Given the description of an element on the screen output the (x, y) to click on. 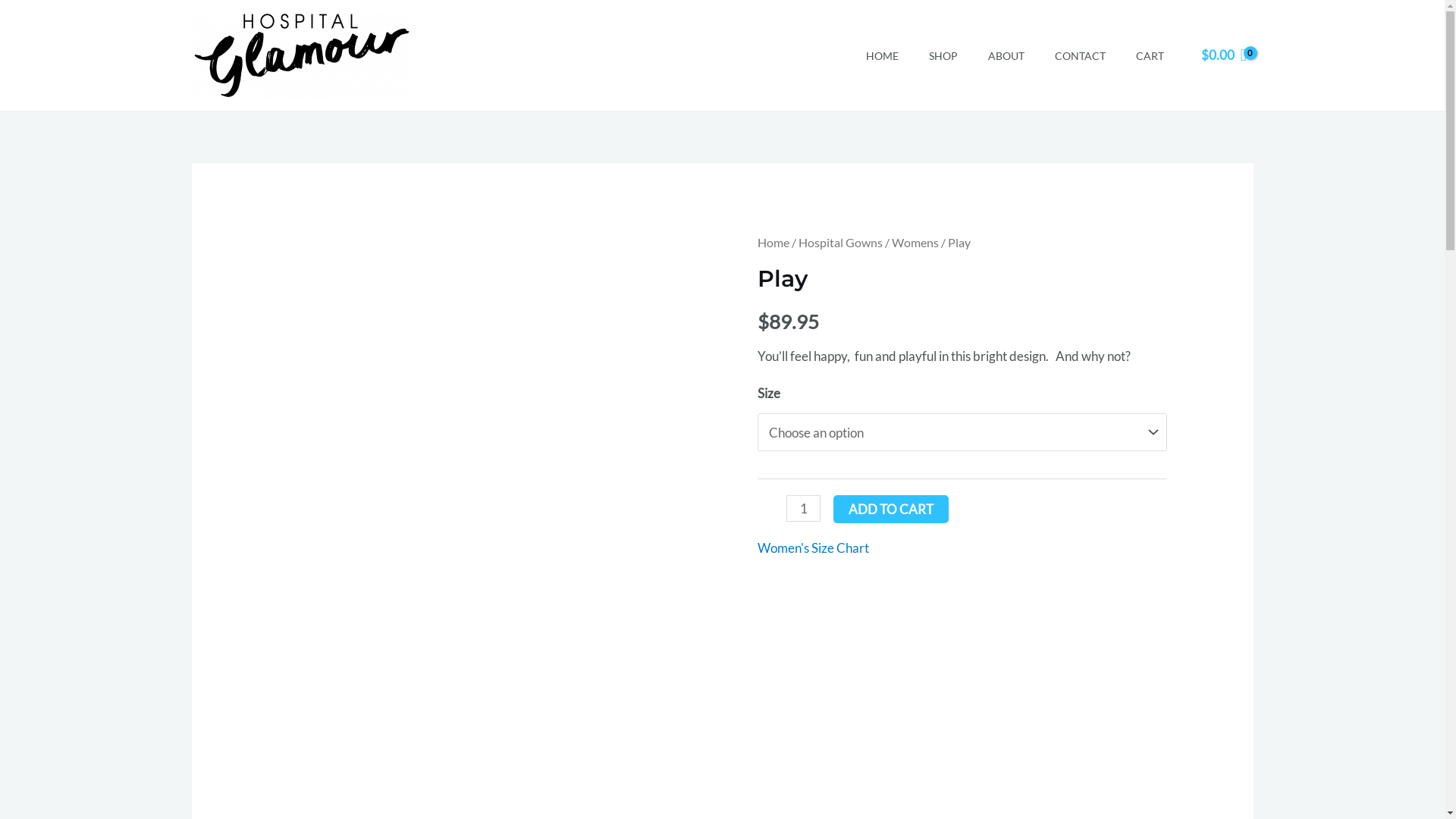
Hospital Gowns Element type: text (840, 242)
HOME Element type: text (881, 54)
ADD TO CART Element type: text (890, 509)
CART Element type: text (1149, 54)
Women's Size Chart Element type: text (813, 548)
Home Element type: text (773, 242)
SHOP Element type: text (942, 54)
ABOUT Element type: text (1005, 54)
Womens Element type: text (914, 242)
$0.00 Element type: text (1223, 54)
CONTACT Element type: text (1079, 54)
